Given the description of an element on the screen output the (x, y) to click on. 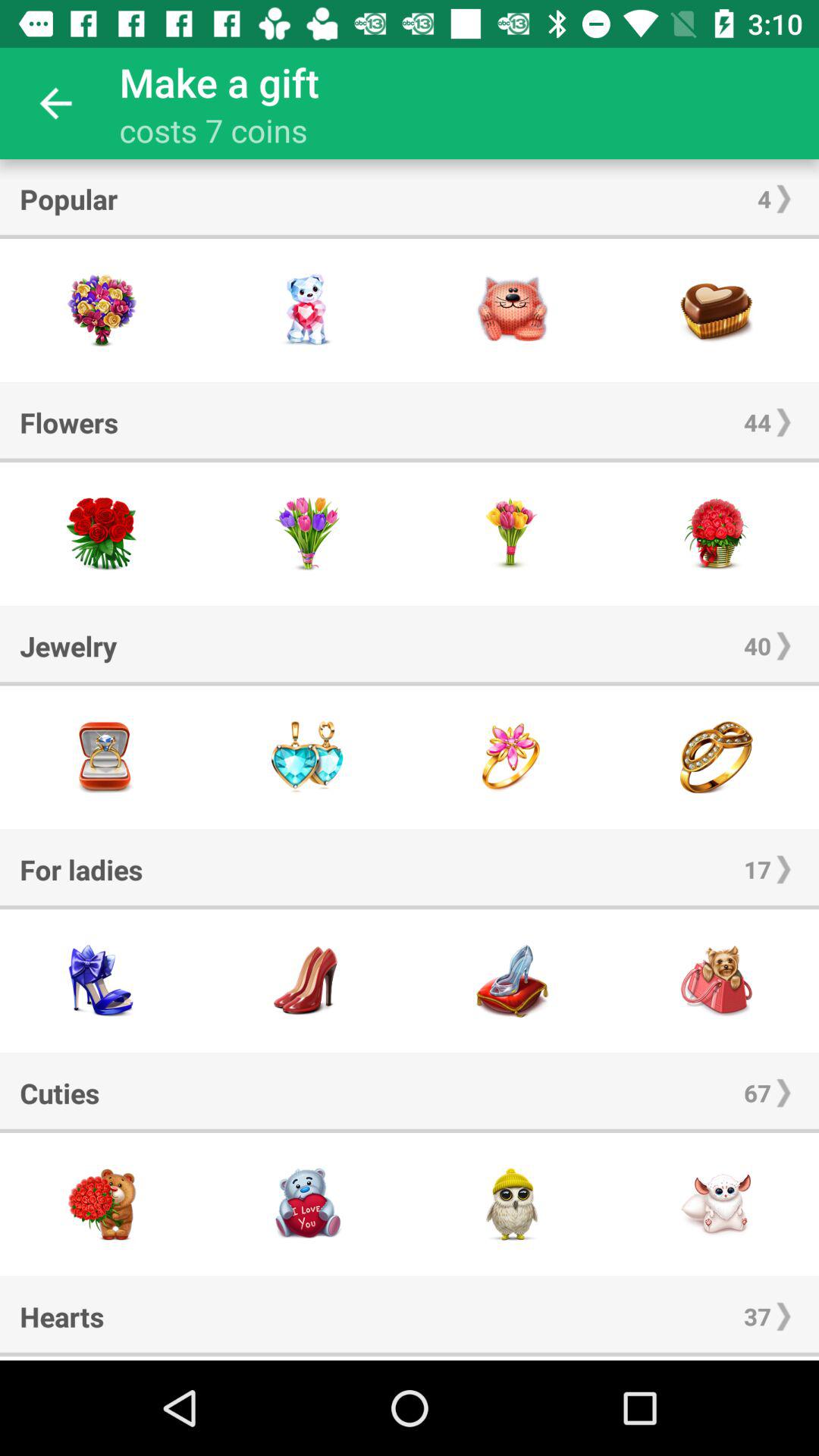
select icon next to the jewelry icon (757, 645)
